Given the description of an element on the screen output the (x, y) to click on. 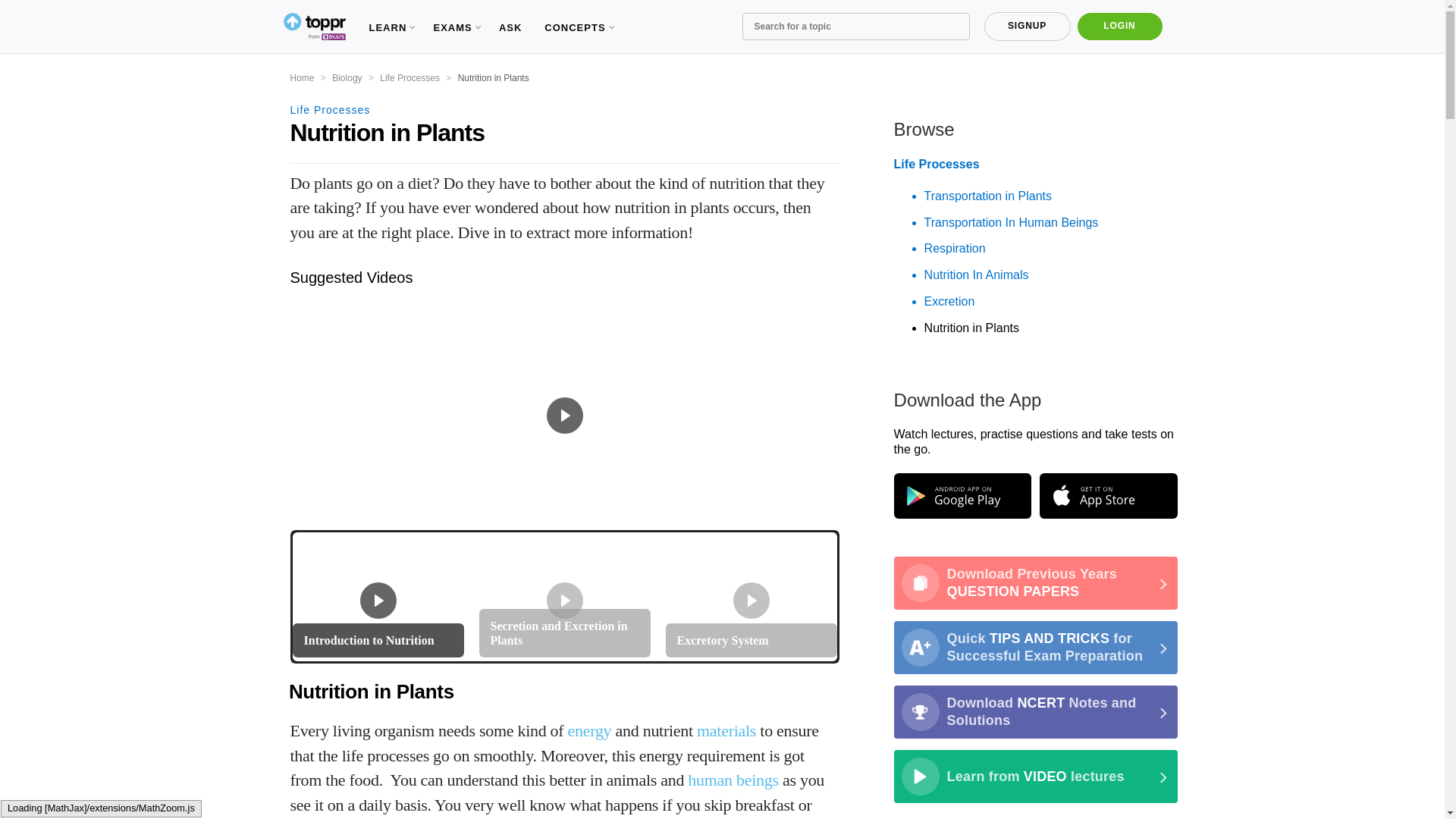
LEARN (389, 27)
Toppr iOS App on App Store (1107, 495)
Go to the Home (301, 77)
Toppr (314, 26)
Go to the Biology (346, 77)
Go to the Life Processes (409, 77)
Toppr Android App on Google Play (961, 495)
Search for a topic (855, 26)
